Given the description of an element on the screen output the (x, y) to click on. 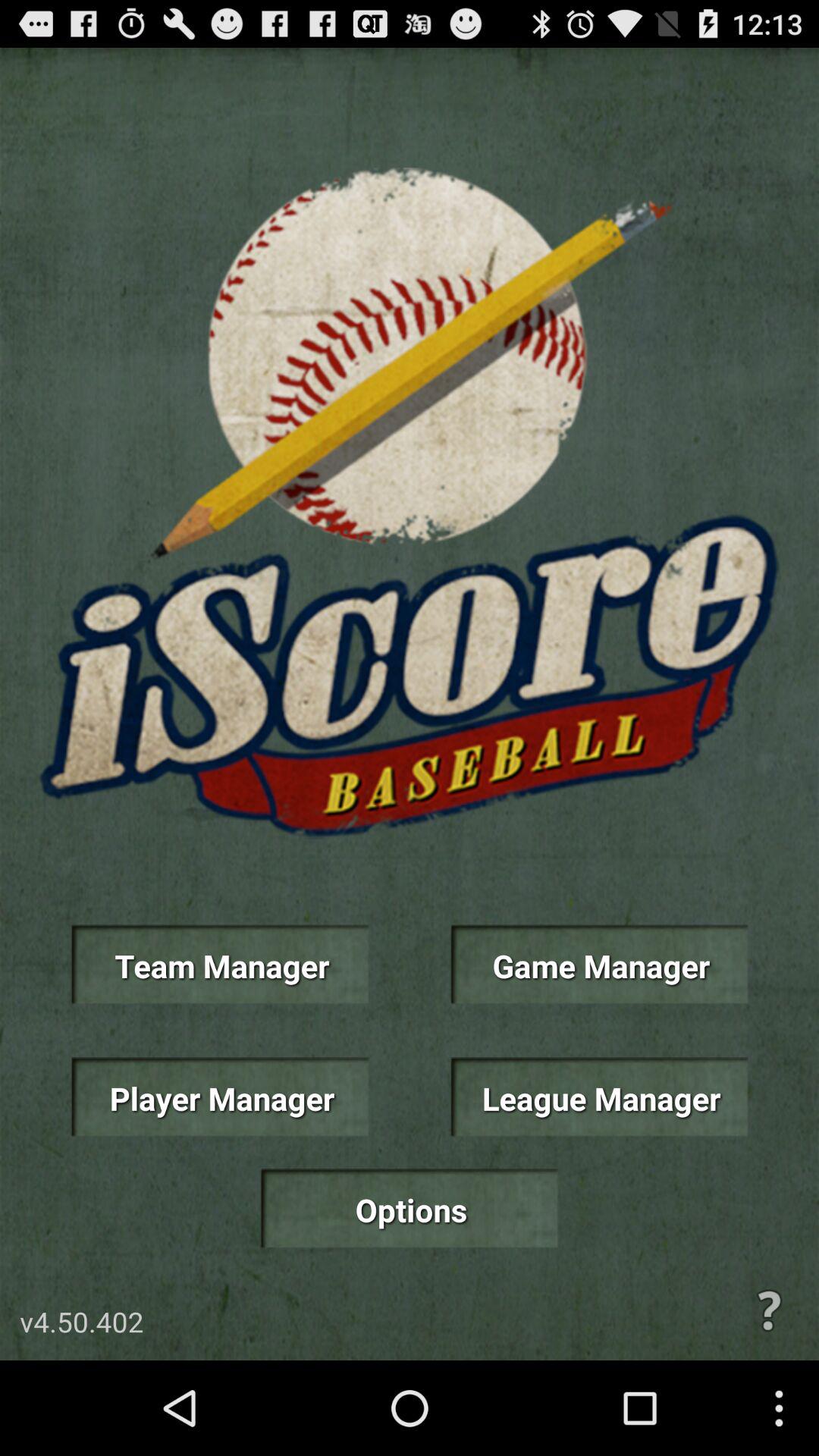
select the item below team manager item (219, 1096)
